Given the description of an element on the screen output the (x, y) to click on. 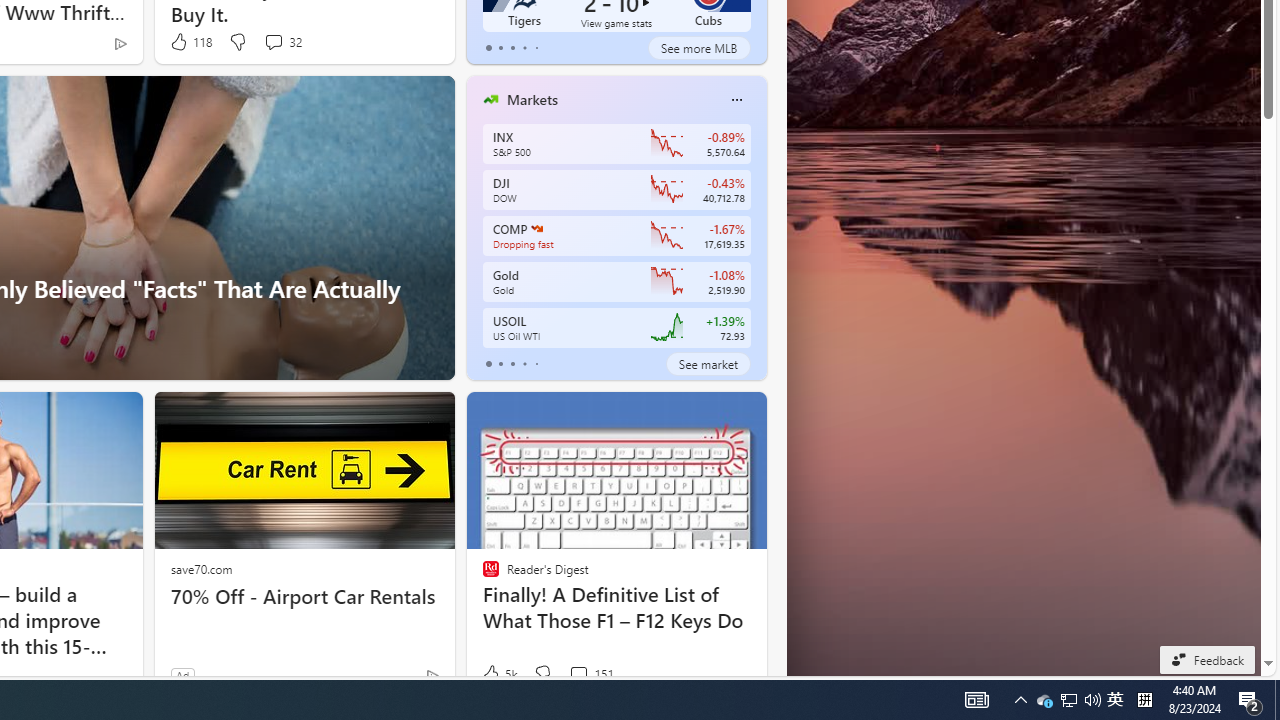
NASDAQ (535, 228)
tab-3 (524, 363)
View comments 151 Comment (591, 674)
tab-2 (511, 363)
See more MLB (698, 47)
70% Off - Airport Car Rentals (304, 596)
tab-4 (535, 363)
